Given the description of an element on the screen output the (x, y) to click on. 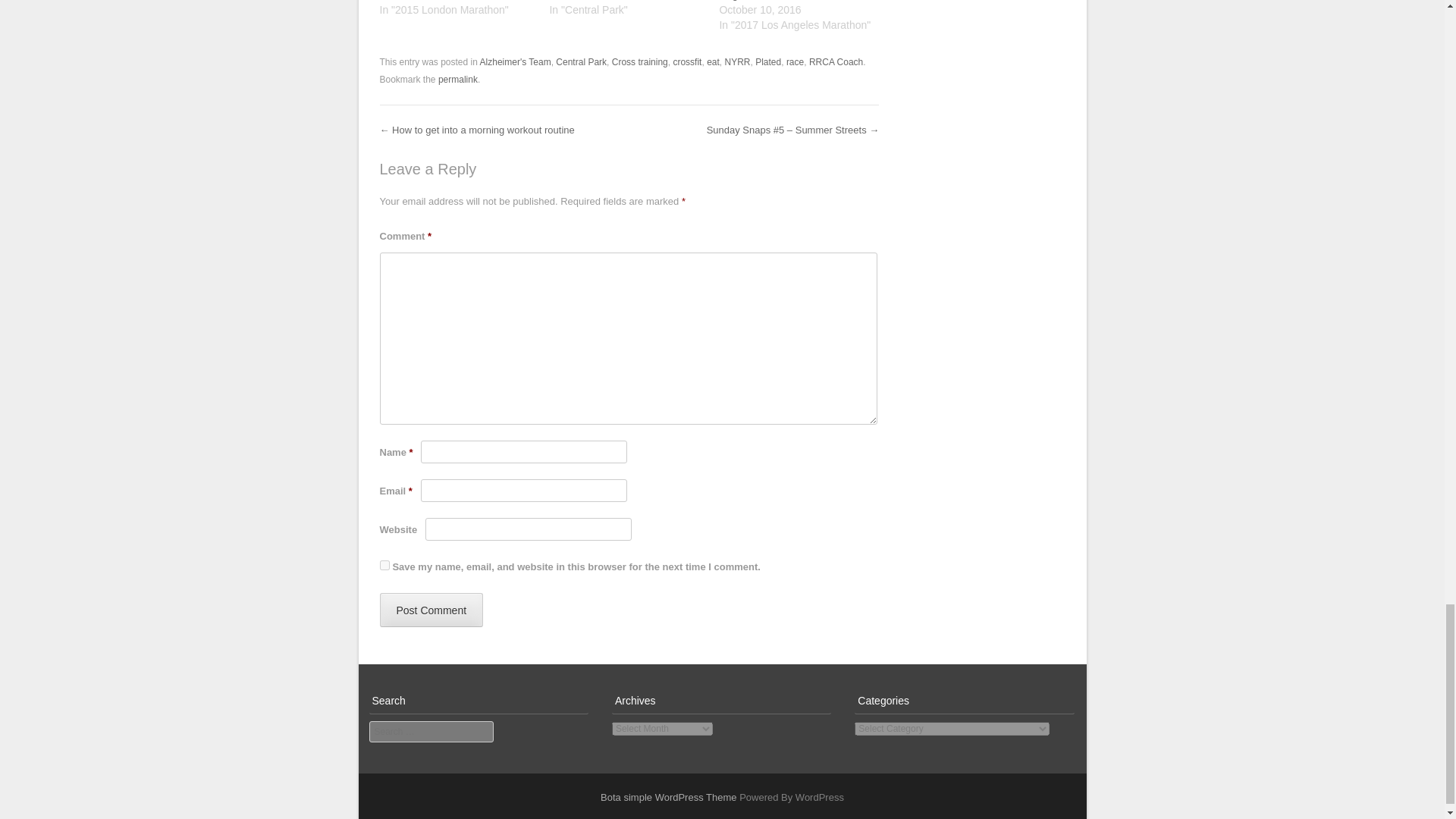
yes (383, 565)
Post Comment (430, 610)
